Given the description of an element on the screen output the (x, y) to click on. 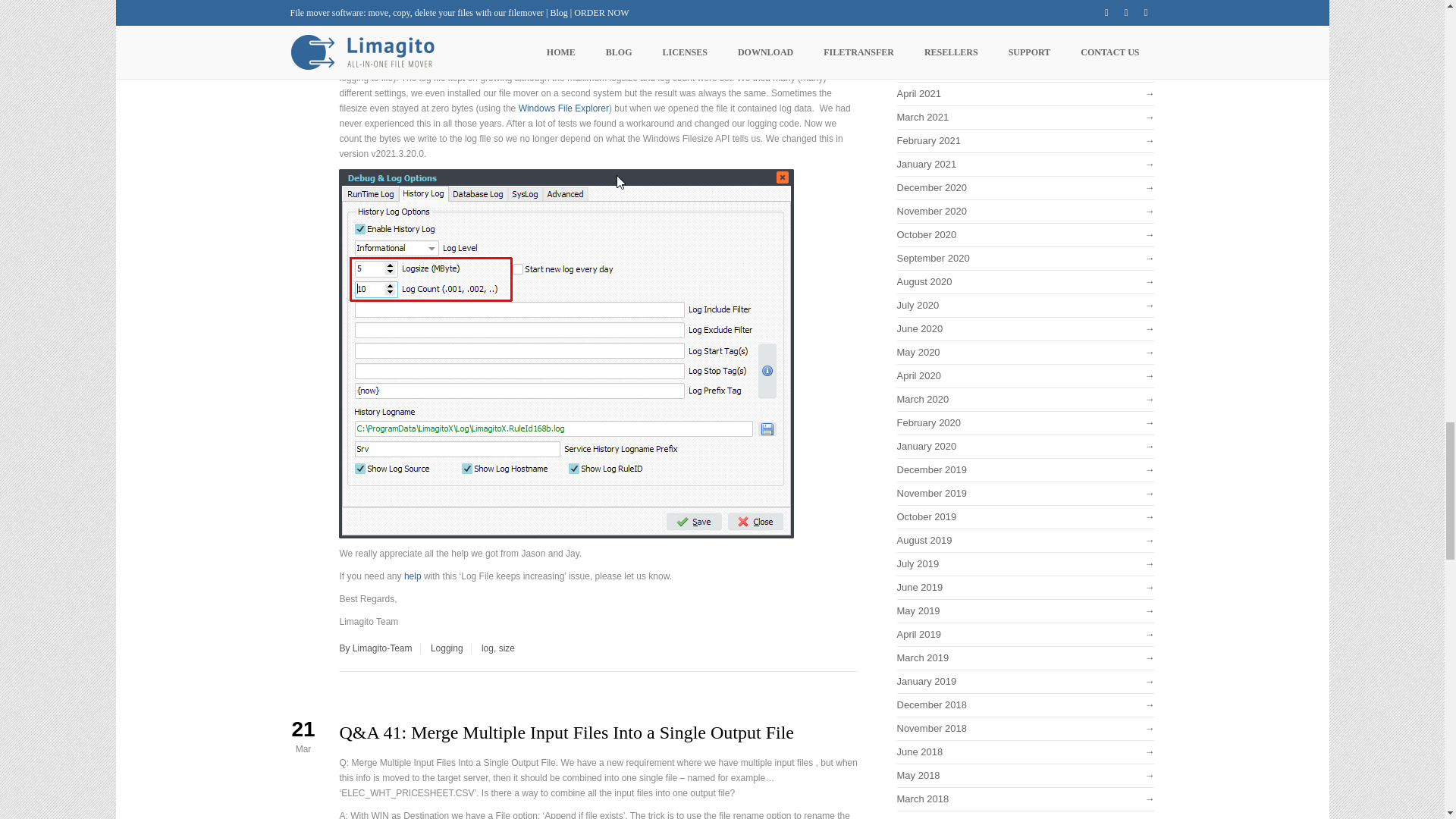
help (413, 575)
size (507, 647)
Windows File Explorer (563, 108)
log (487, 647)
Logging (446, 647)
